Given the description of an element on the screen output the (x, y) to click on. 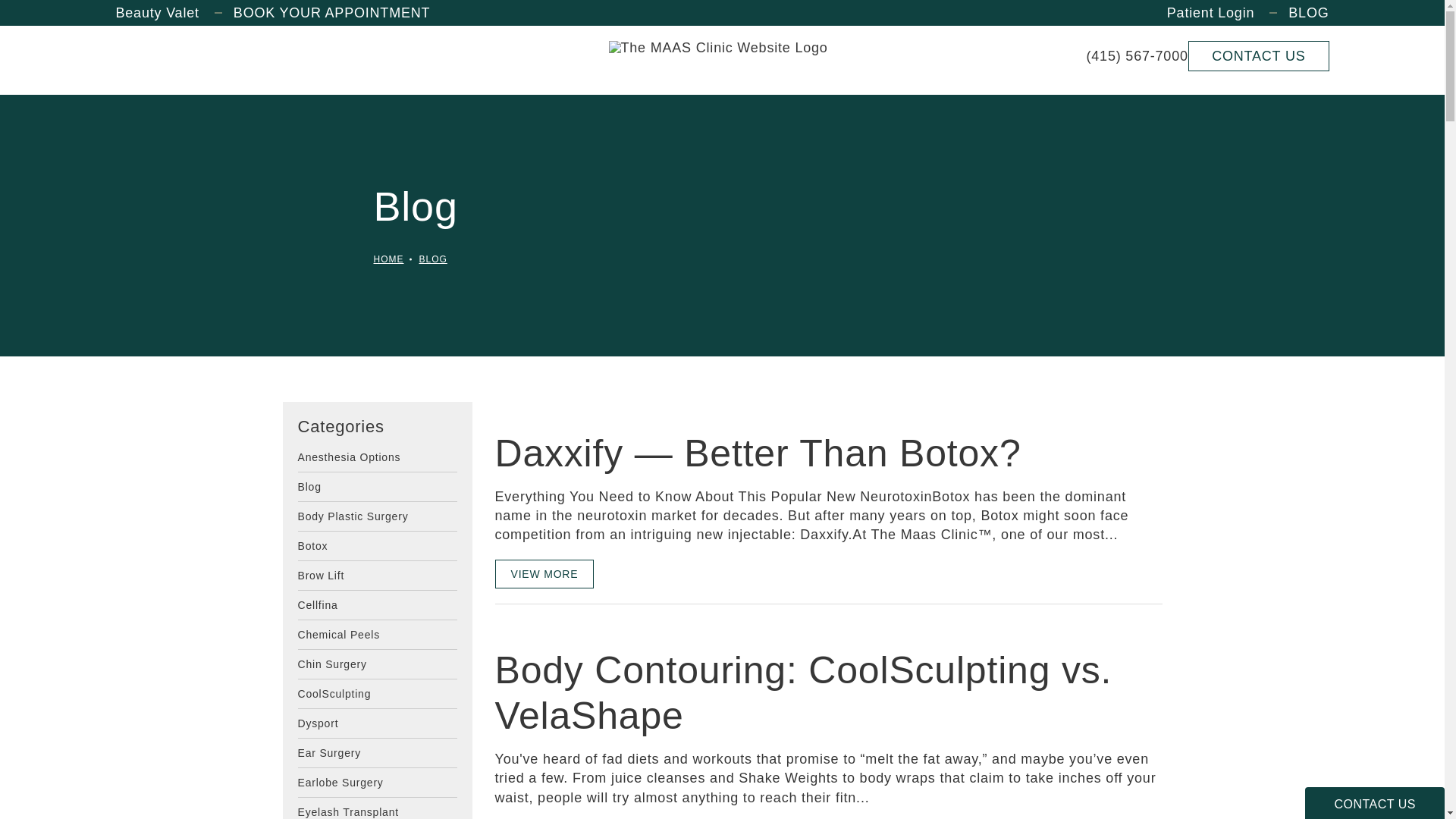
BOOK YOUR APPOINTMENT (322, 12)
BLOG (1298, 12)
View blog article (608, 625)
View full blog article (544, 573)
View blog article (608, 408)
Patient Login (1198, 12)
